Given the description of an element on the screen output the (x, y) to click on. 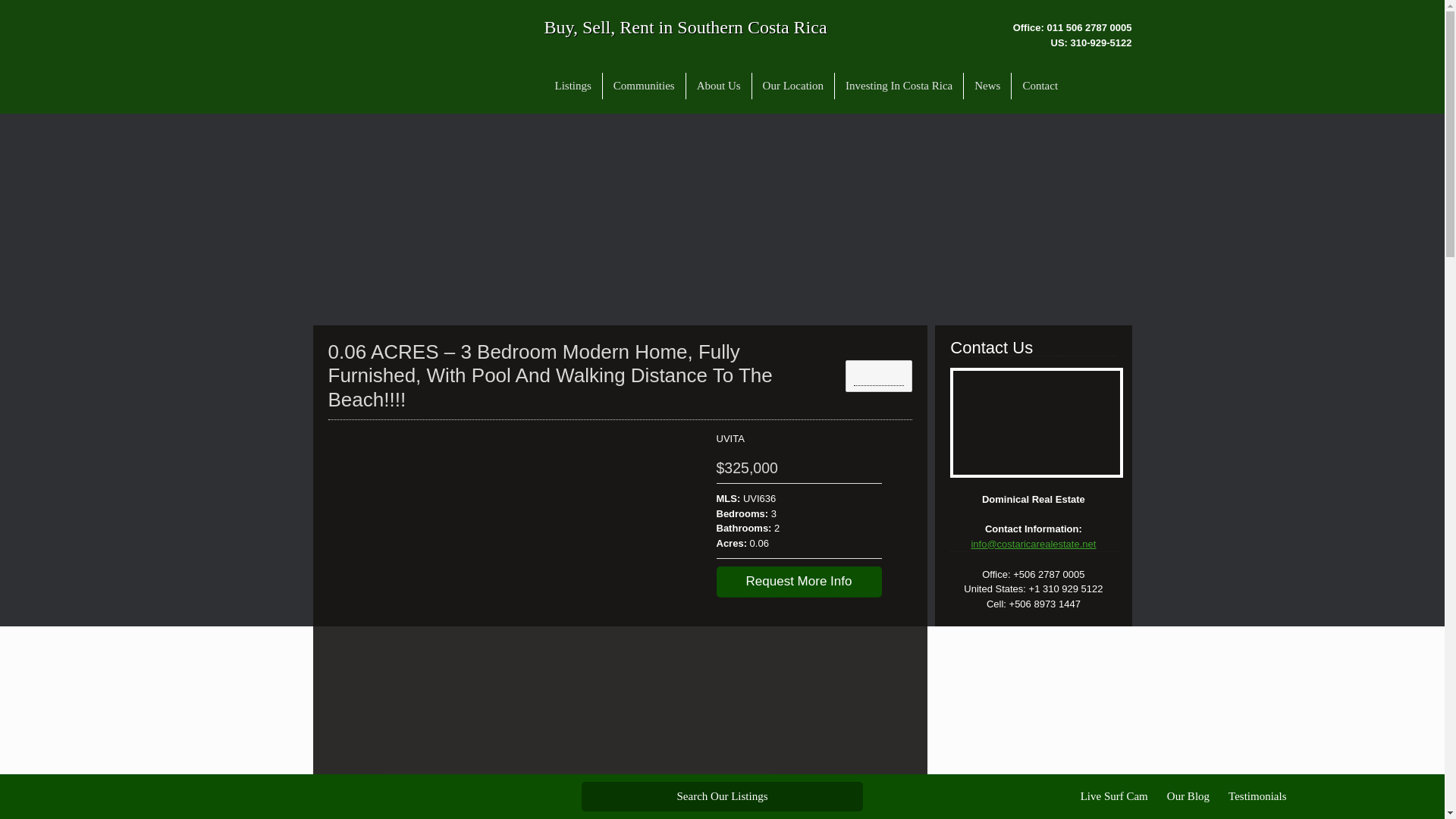
About Us (718, 85)
Our Location (793, 85)
Dominical Real Estate (420, 57)
Contact (1039, 85)
Communities (643, 85)
Listings (572, 85)
News (986, 85)
Investing In Costa Rica (898, 85)
